Given the description of an element on the screen output the (x, y) to click on. 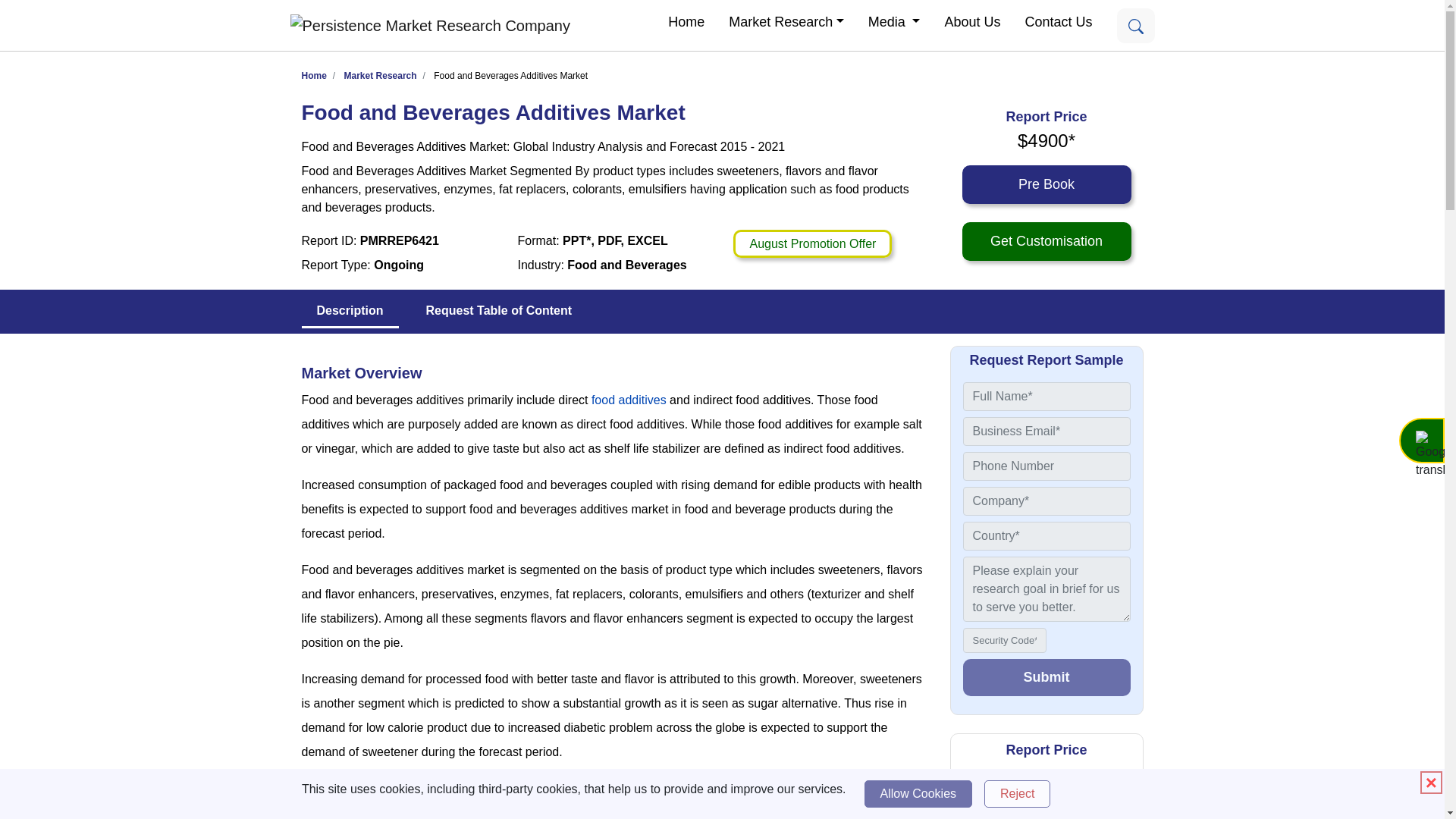
Persistence Market Report (313, 75)
Pre Book (1045, 184)
Get Customisation (1045, 241)
About Us (971, 21)
Pre Book (1046, 812)
Request Discount (812, 243)
Home (686, 21)
Market Research (379, 75)
Persistence Market Research Company (429, 25)
Search (1135, 24)
